Given the description of an element on the screen output the (x, y) to click on. 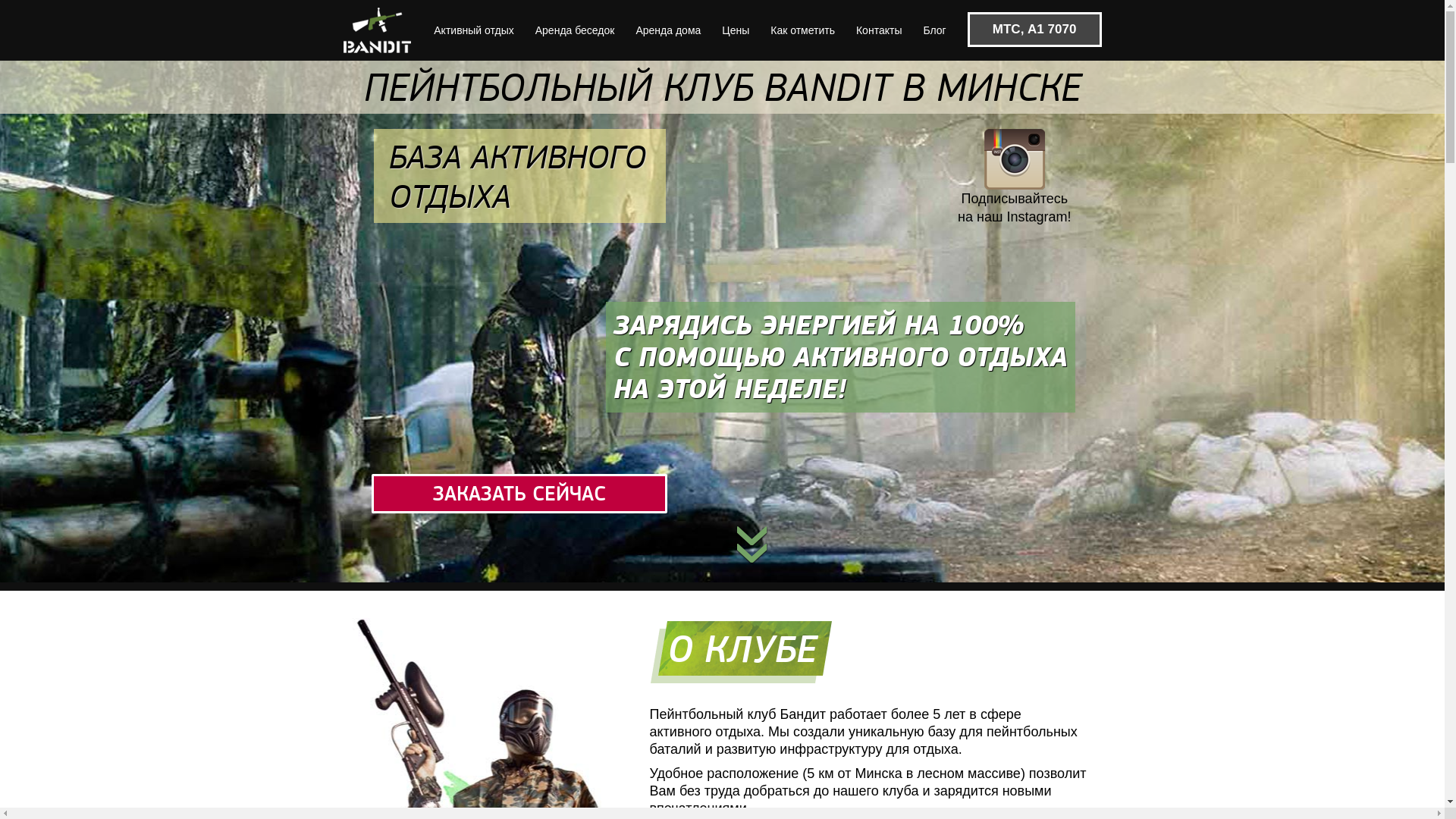
bandit.by Element type: hover (377, 30)
